Given the description of an element on the screen output the (x, y) to click on. 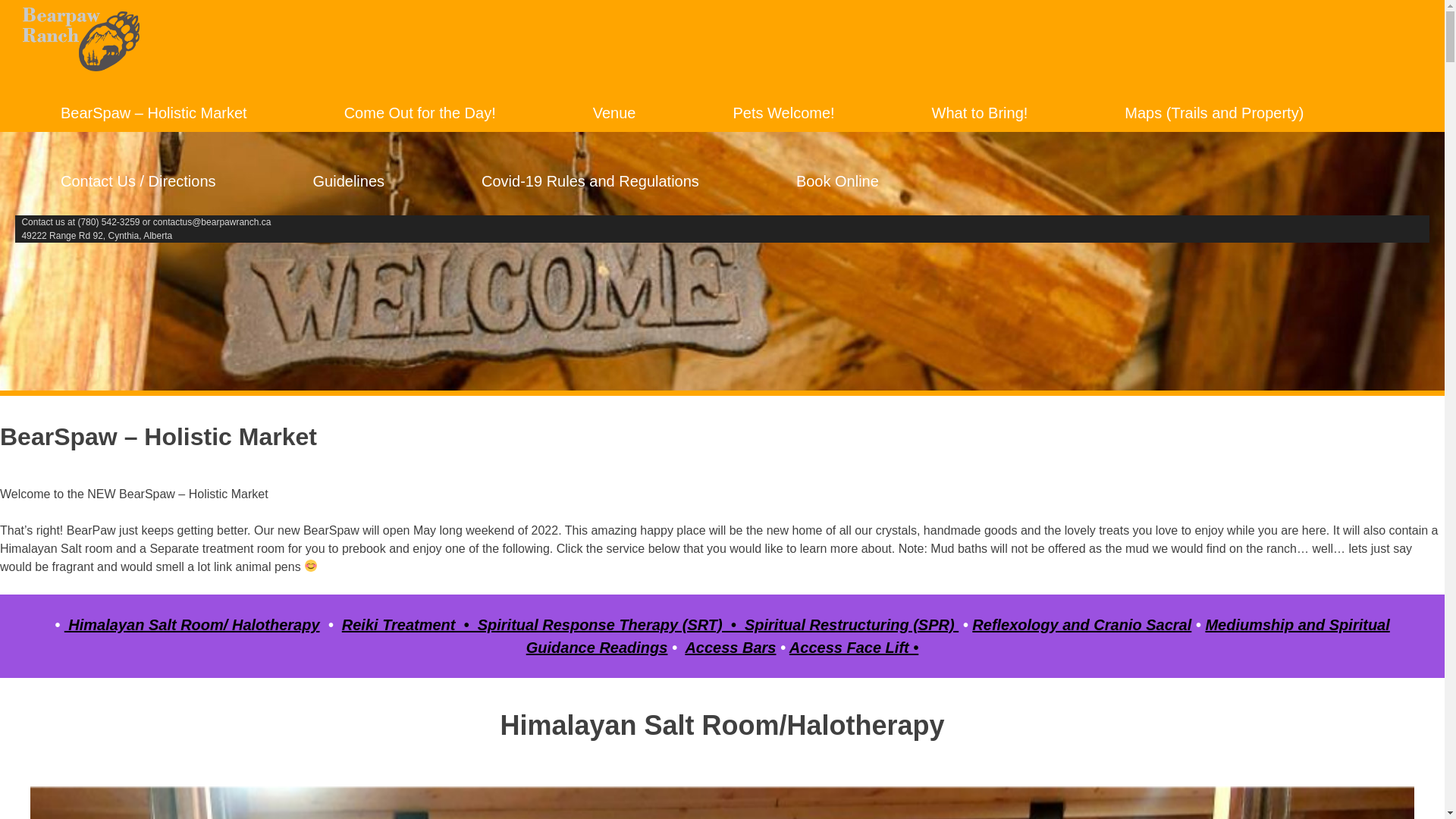
Maps (Trails and Property) Element type: text (1213, 112)
Himalayan Salt Room/ Halotherapy Element type: text (192, 624)
Come Out for the Day! Element type: text (419, 112)
Reflexology and Cranio Sacral Element type: text (1081, 624)
Guidelines Element type: text (349, 180)
Book Online Element type: text (837, 180)
What to Bring! Element type: text (979, 112)
Covid-19 Rules and Regulations Element type: text (590, 180)
Venue Element type: text (614, 112)
Mediumship and Spiritual Guidance Readings Element type: text (958, 635)
Access Bars Element type: text (729, 647)
Pets Welcome! Element type: text (783, 112)
Contact Us / Directions Element type: text (138, 180)
